Given the description of an element on the screen output the (x, y) to click on. 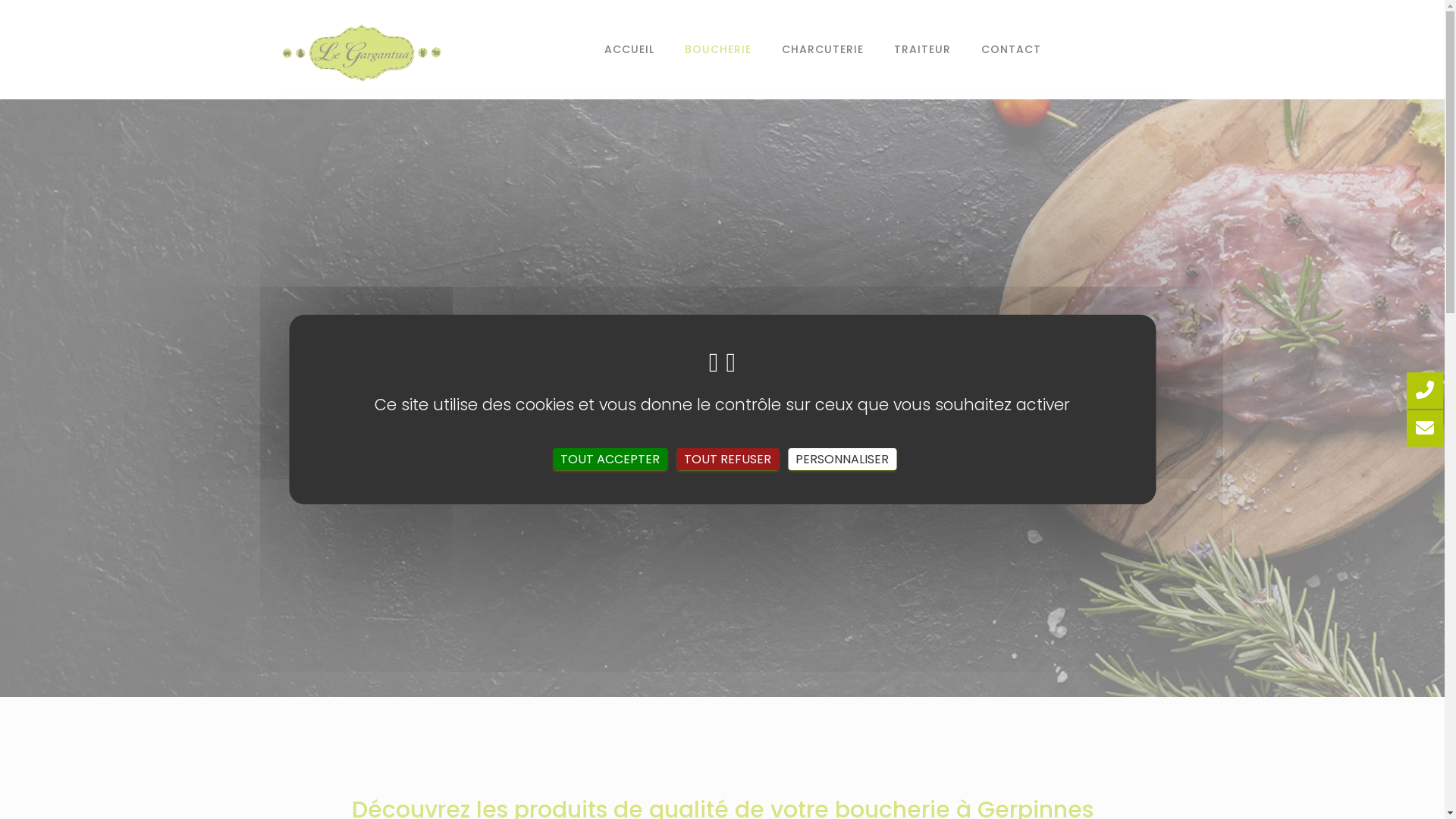
PERSONNALISER Element type: text (841, 459)
ACCUEIL Element type: text (628, 48)
TOUT REFUSER Element type: text (727, 459)
CHARCUTERIE Element type: text (821, 48)
TOUT ACCEPTER Element type: text (609, 459)
BOUCHERIE Element type: text (716, 48)
CONTACT Element type: text (1011, 48)
TRAITEUR Element type: text (921, 48)
